Given the description of an element on the screen output the (x, y) to click on. 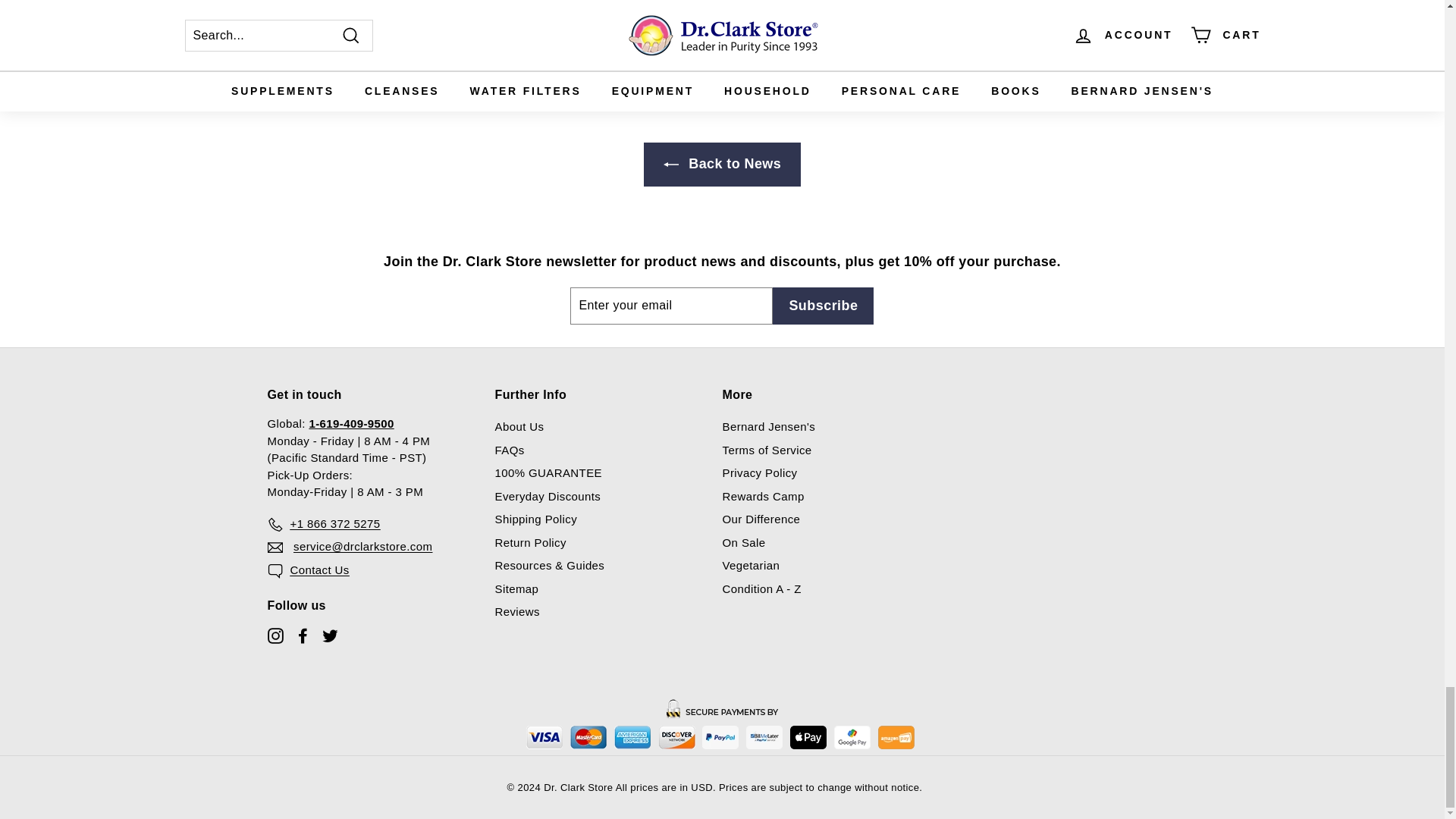
Dr. Clark Store on Twitter (329, 634)
Dr. Clark Store on Instagram (274, 634)
Dr. Clark Store on Facebook (302, 634)
